Given the description of an element on the screen output the (x, y) to click on. 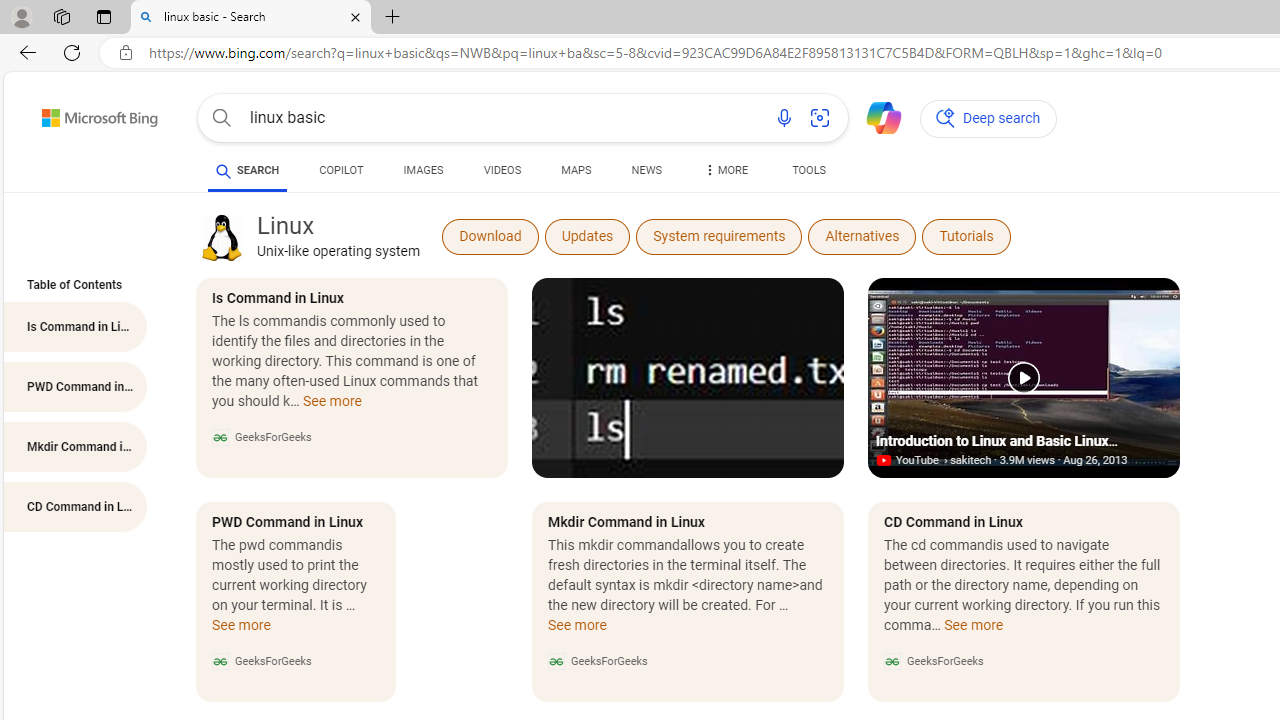
COPILOT (341, 170)
COPILOT (341, 173)
IMAGES (423, 170)
Linux (221, 236)
Linux (221, 237)
TOOLS (808, 173)
Chat (875, 116)
Tutorials (966, 236)
See more Is Command in Linux (332, 406)
Updates (587, 236)
linux basic - Search (250, 17)
MAPS (576, 170)
